Given the description of an element on the screen output the (x, y) to click on. 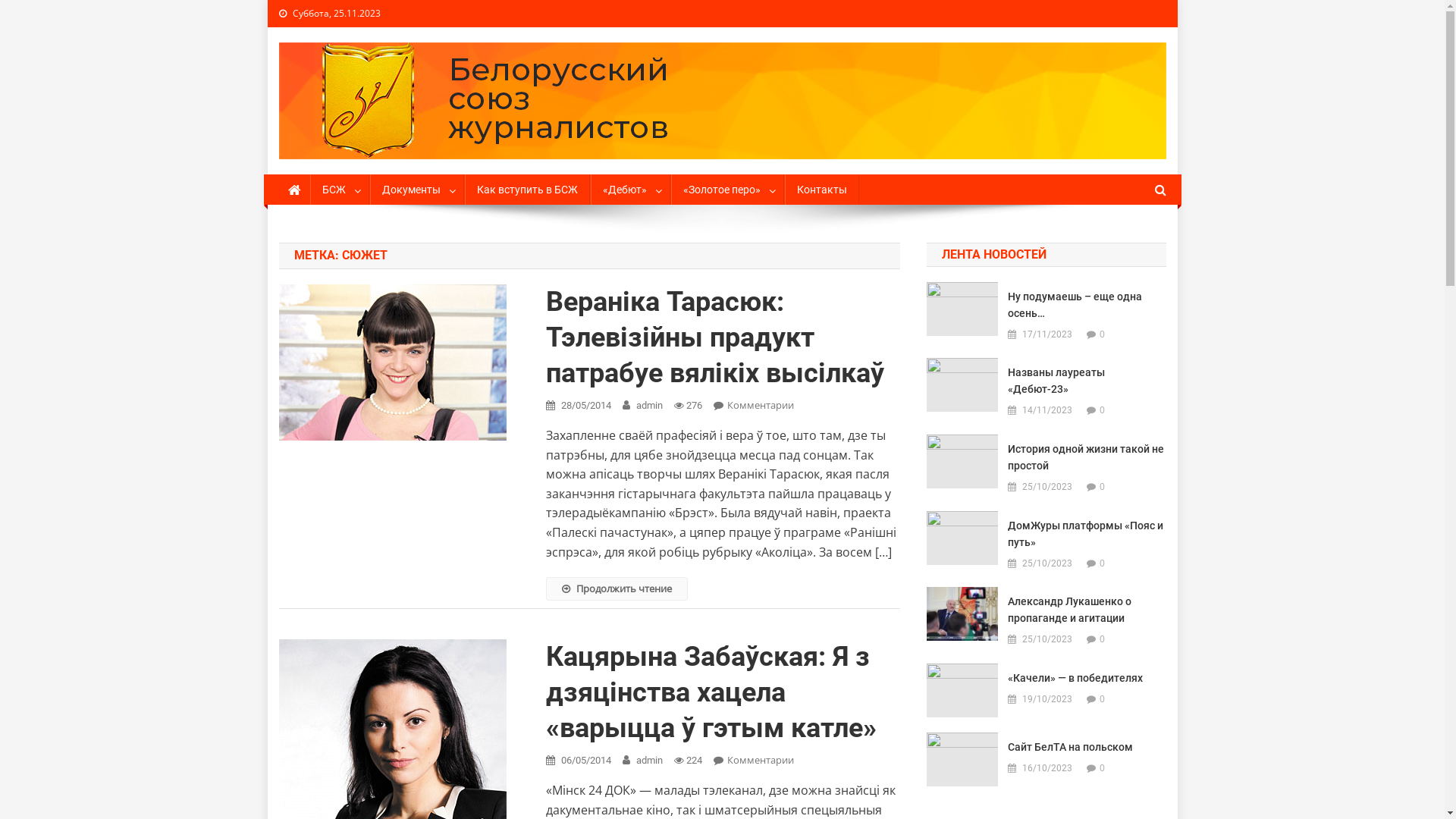
0 Element type: text (1101, 562)
0 Element type: text (1101, 638)
25/10/2023 Element type: text (1047, 563)
25/10/2023 Element type: text (1047, 487)
17/11/2023 Element type: text (1047, 334)
0 Element type: text (1101, 767)
16/10/2023 Element type: text (1047, 768)
28/05/2014 Element type: text (586, 405)
0 Element type: text (1101, 333)
admin Element type: text (649, 759)
0 Element type: text (1101, 409)
admin Element type: text (649, 405)
14/11/2023 Element type: text (1047, 410)
25/10/2023 Element type: text (1047, 639)
06/05/2014 Element type: text (586, 759)
19/10/2023 Element type: text (1047, 699)
0 Element type: text (1101, 698)
0 Element type: text (1101, 486)
